Given the description of an element on the screen output the (x, y) to click on. 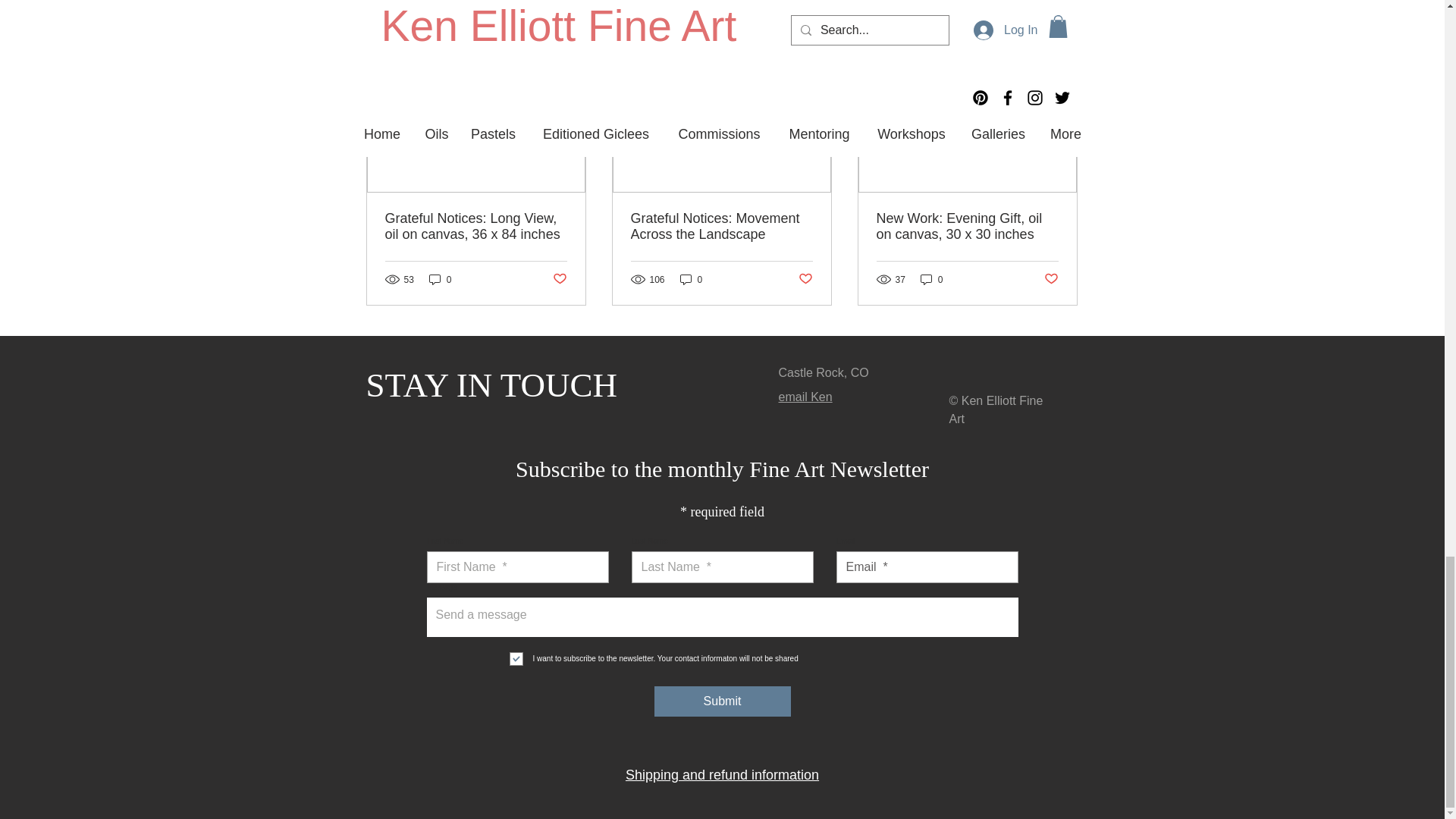
0 (440, 278)
Grateful Notices: Long View, oil on canvas, 36 x 84 inches (476, 226)
Post not marked as liked (558, 279)
See All (1061, 42)
